Given the description of an element on the screen output the (x, y) to click on. 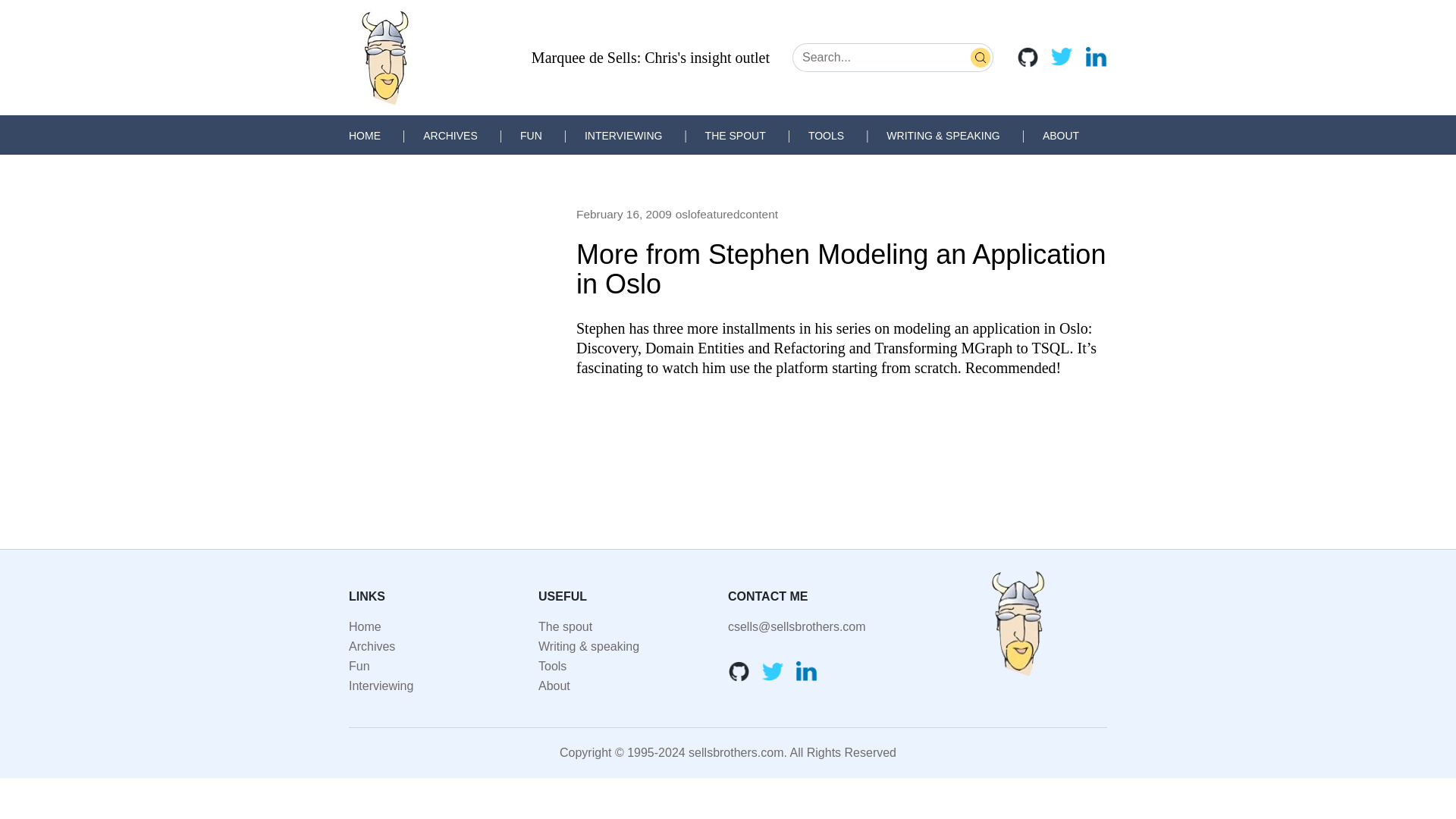
LinkedIn (806, 671)
oslofeaturedcontent (726, 214)
GitHub (1027, 56)
TOOLS (826, 135)
Discovery (606, 347)
Transforming MGraph to TSQL (971, 347)
Twitter (1061, 56)
FUN (530, 135)
GitHub (739, 671)
About (554, 685)
